Given the description of an element on the screen output the (x, y) to click on. 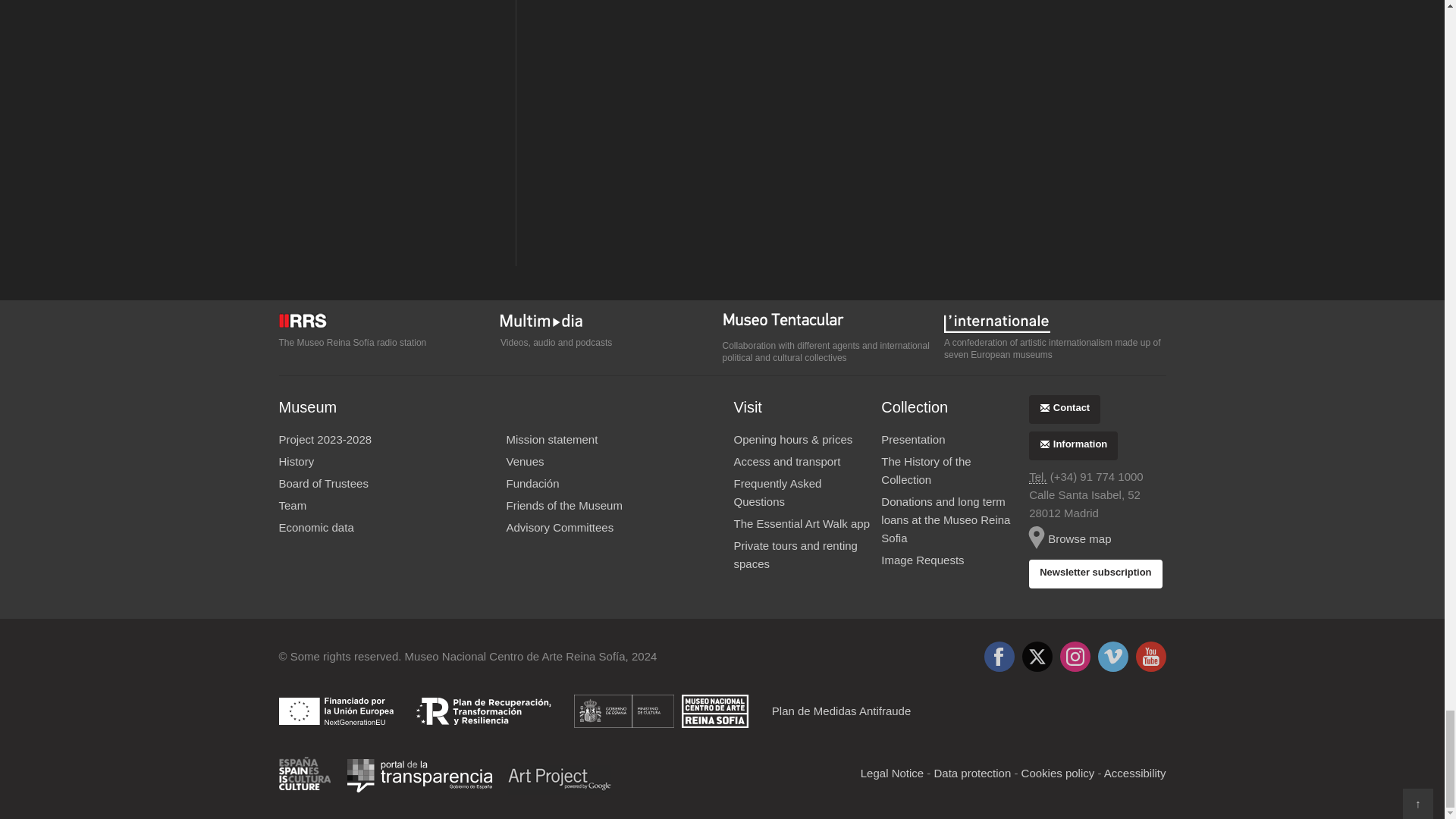
Linternationale (1054, 322)
Museo tentacular (832, 323)
Multimedia (611, 322)
